Given the description of an element on the screen output the (x, y) to click on. 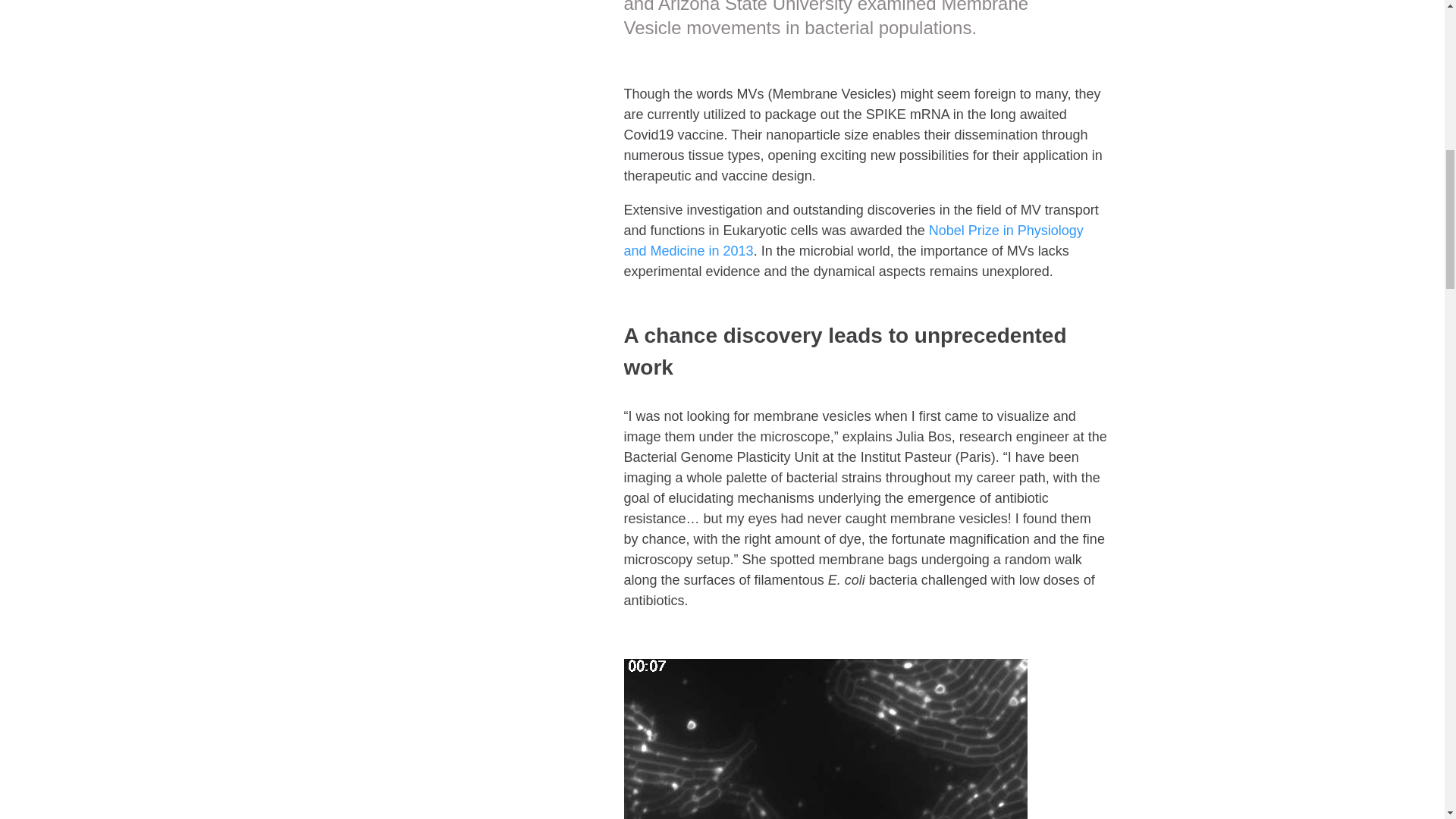
membrane vesicles  (824, 739)
